Given the description of an element on the screen output the (x, y) to click on. 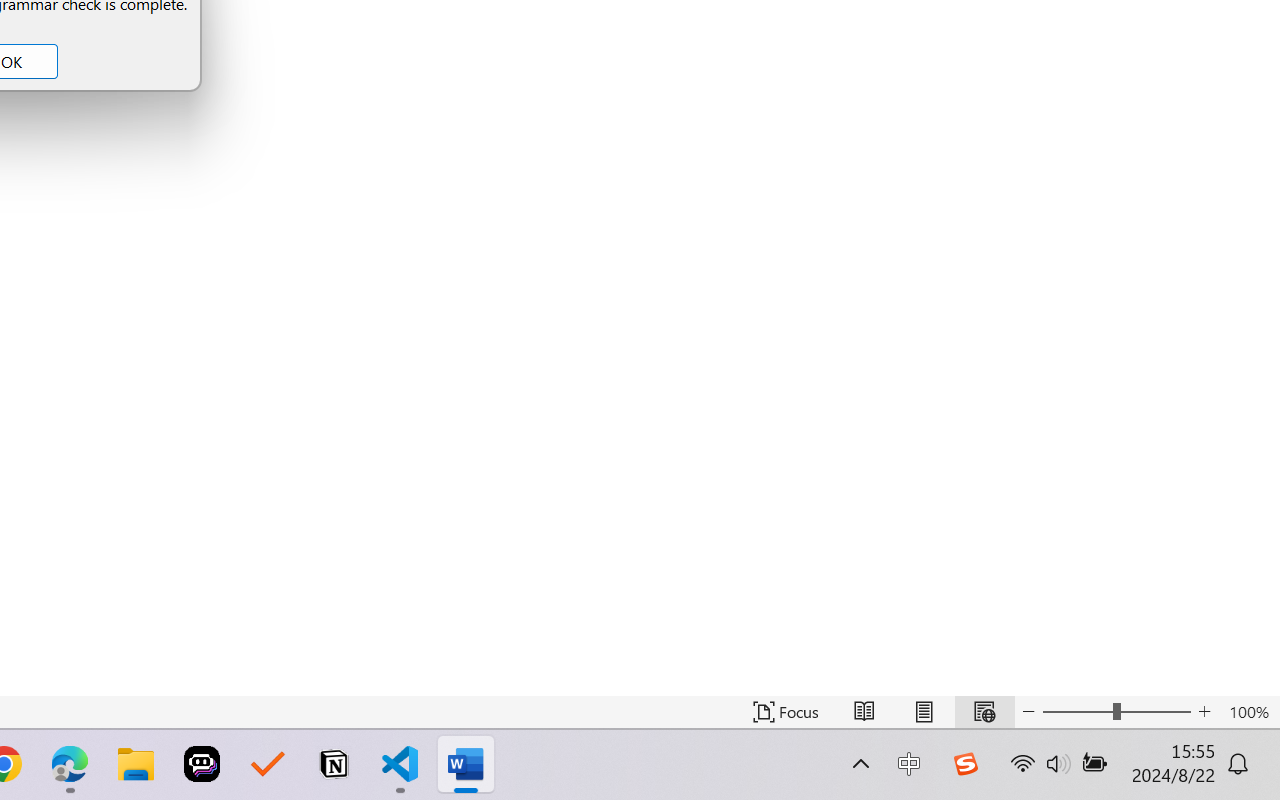
Zoom Out (1077, 712)
Web Layout (984, 712)
Poe (201, 764)
Notion (333, 764)
Zoom In (1204, 712)
Class: Image (965, 764)
Focus  (786, 712)
